Given the description of an element on the screen output the (x, y) to click on. 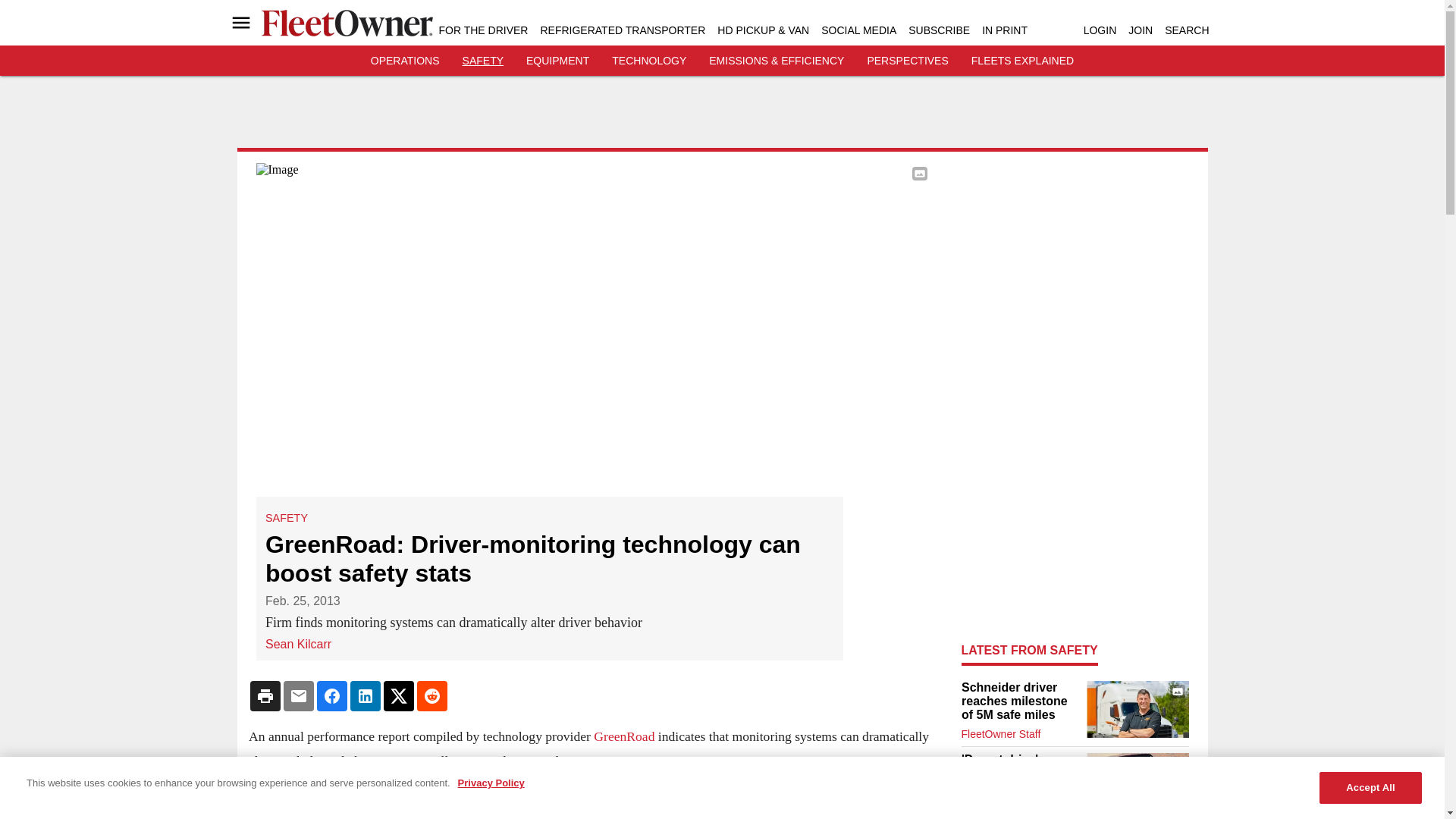
SEARCH (1186, 30)
SOCIAL MEDIA (858, 30)
EQUIPMENT (557, 60)
IN PRINT (1004, 30)
FOR THE DRIVER (482, 30)
PERSPECTIVES (906, 60)
OPERATIONS (405, 60)
REFRIGERATED TRANSPORTER (622, 30)
